Given the description of an element on the screen output the (x, y) to click on. 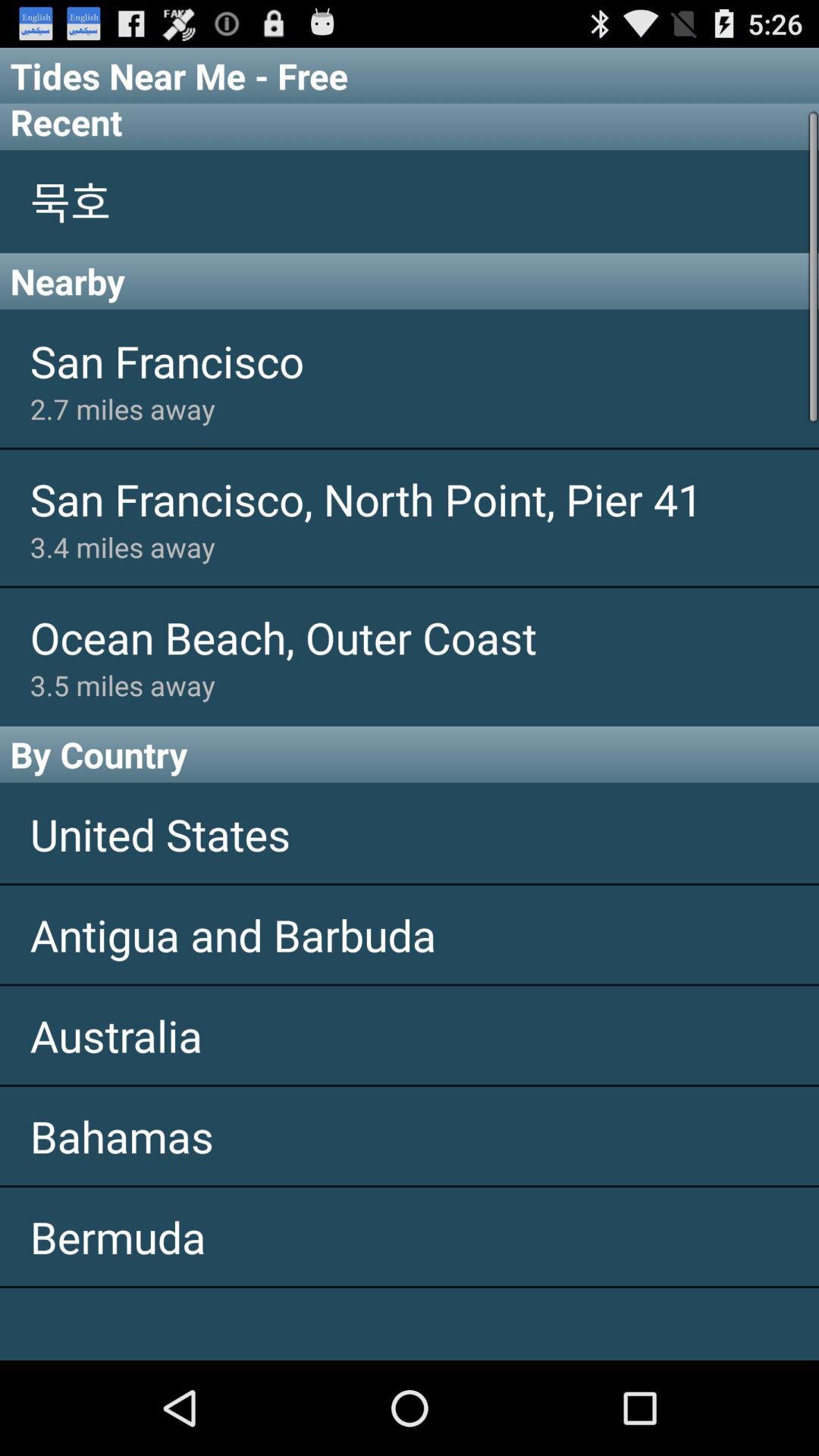
turn off the brazil item (409, 1324)
